Given the description of an element on the screen output the (x, y) to click on. 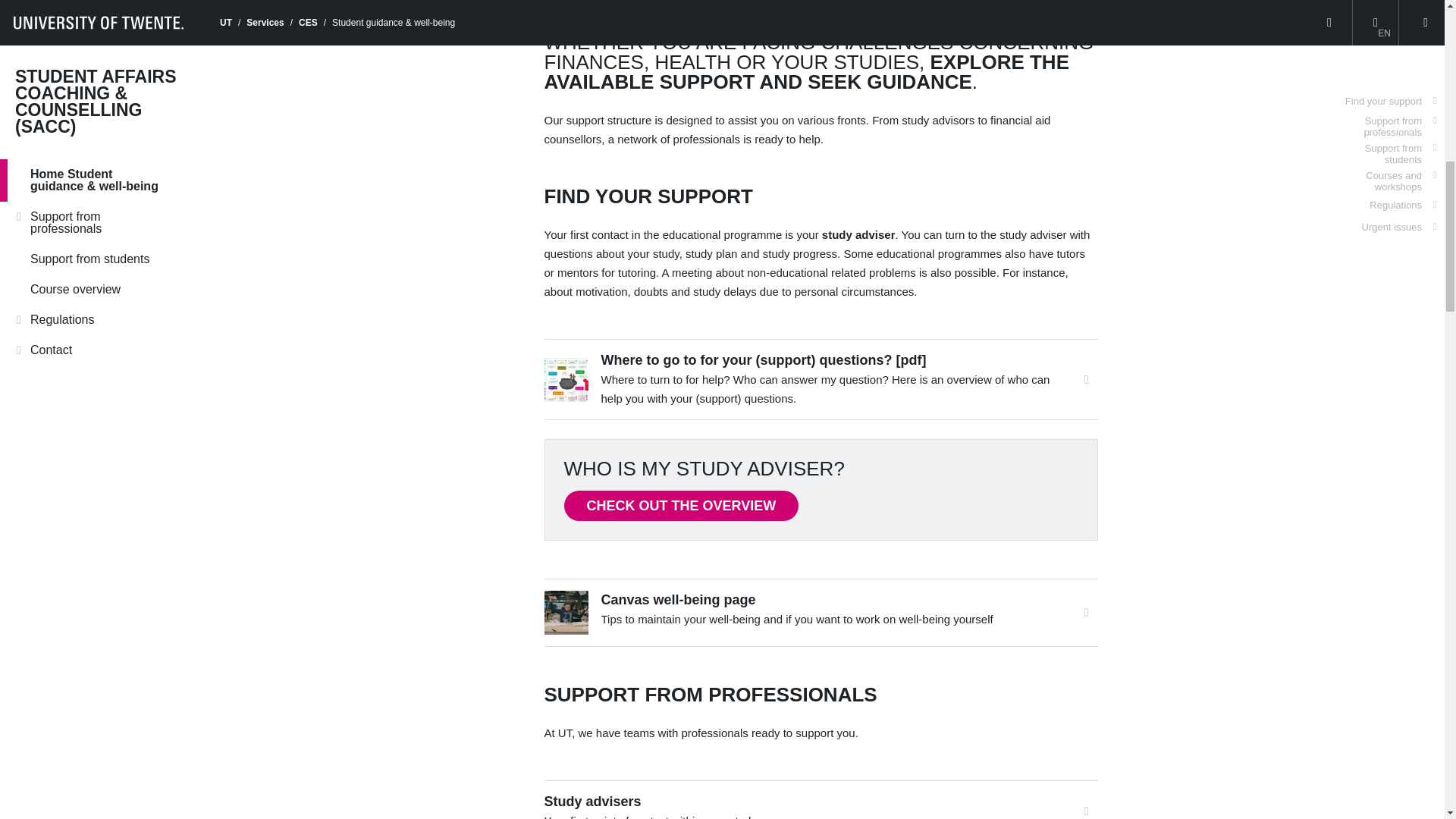
Support from students (1383, 83)
Support from students (1383, 83)
Support from professionals (1383, 55)
Courses and workshops (1383, 110)
Regulations (1403, 134)
Urgent issues (1399, 156)
Urgent issues (1399, 156)
Support from professionals (1383, 55)
Courses and workshops (1383, 110)
Find your support (1391, 30)
